Given the description of an element on the screen output the (x, y) to click on. 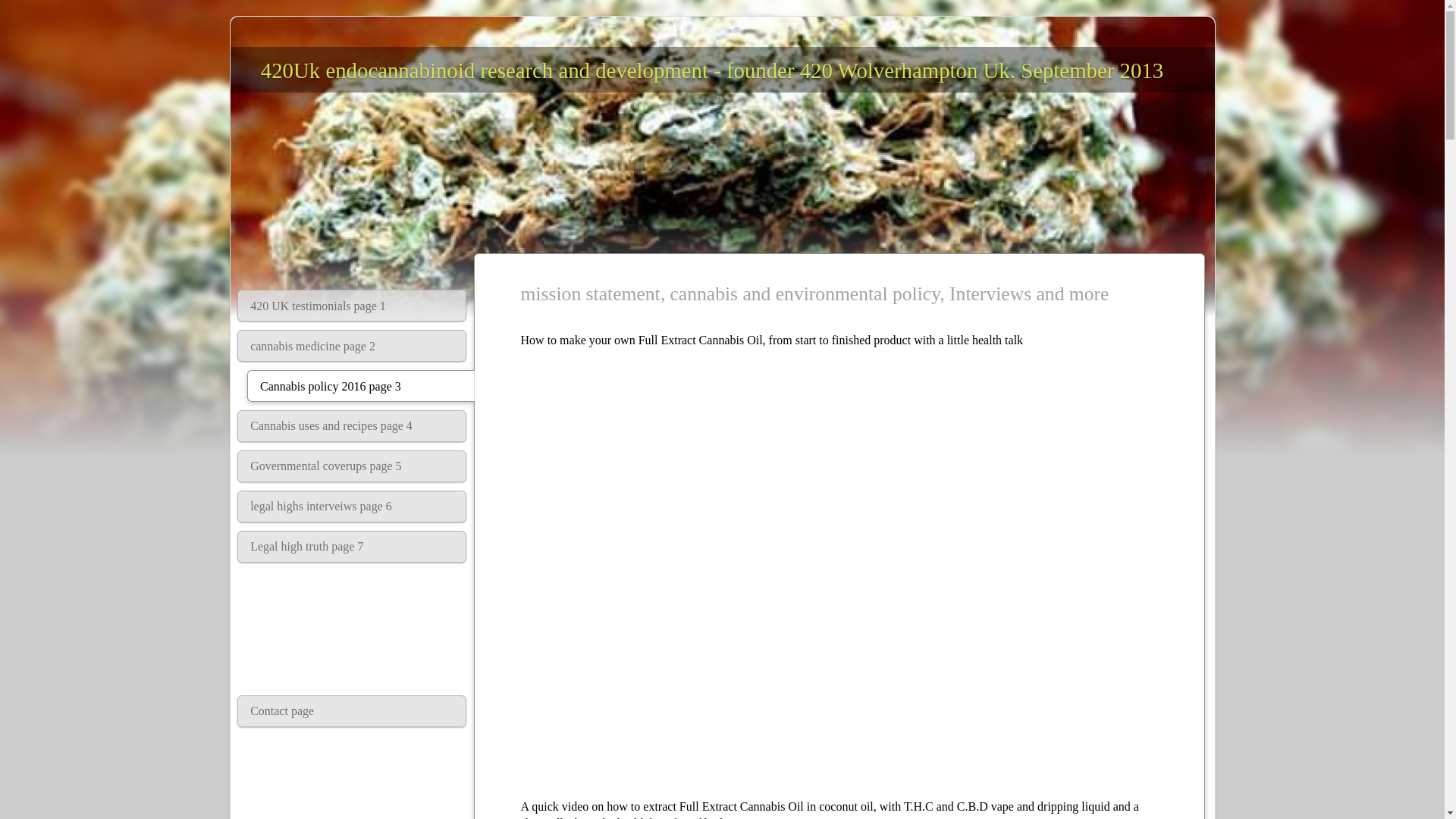
legal highs interveiws page 6 (351, 506)
Cannabis policy 2016 page 3 (360, 386)
420 UK testimonials page 1 (351, 305)
Legal high truth page 7 (351, 546)
Contact page (351, 711)
cannabis medicine page 2 (351, 345)
Governmental coverups page 5 (351, 466)
Cannabis uses and recipes page 4 (351, 426)
